Given the description of an element on the screen output the (x, y) to click on. 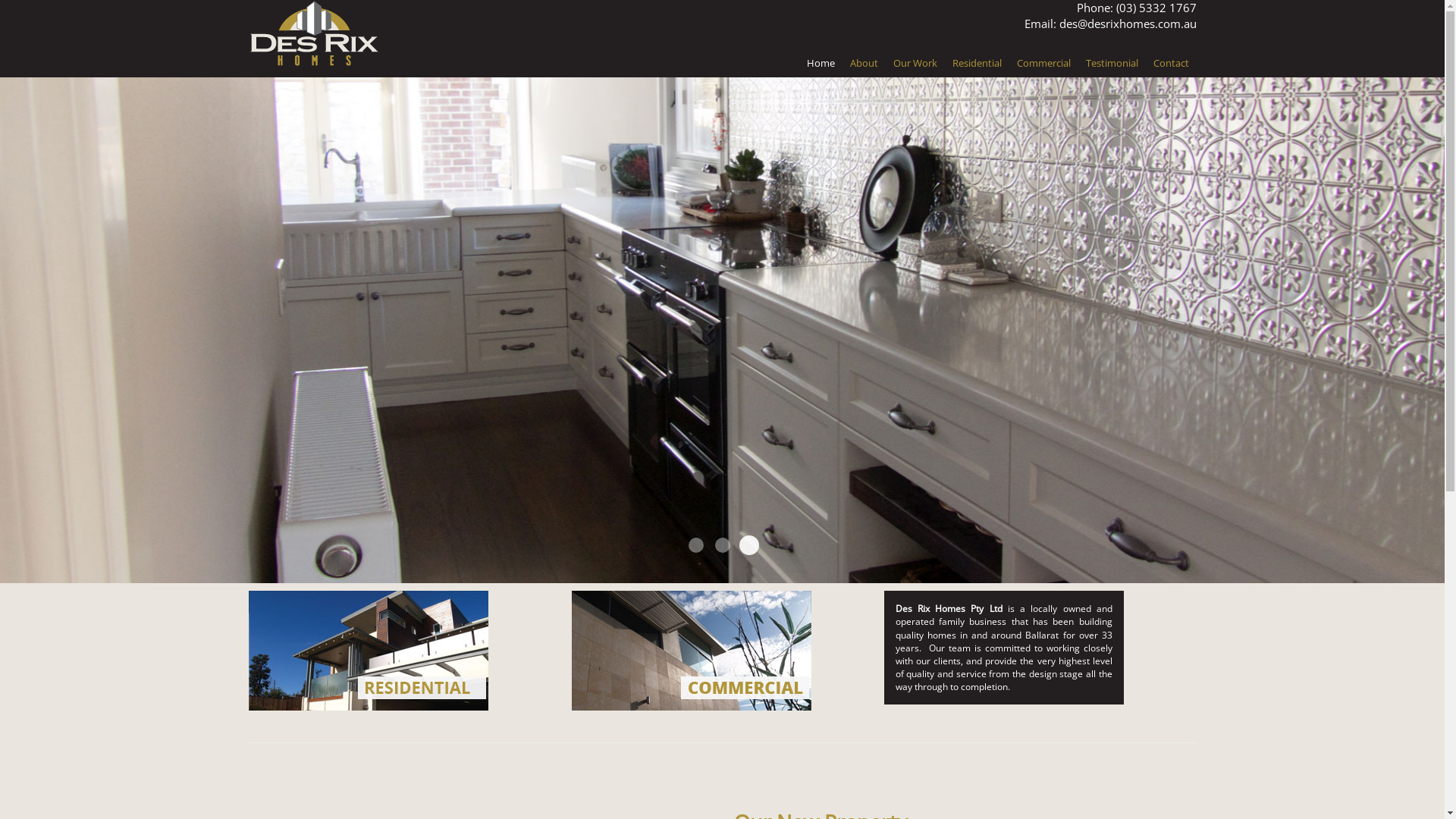
des@desrixhomes.com.au Element type: text (1126, 23)
Testimonial Element type: text (1111, 62)
Banner 01 Element type: text (695, 544)
Home Element type: text (820, 62)
Banner 03 Element type: text (745, 542)
Our Work Element type: text (914, 62)
Banner 02 Element type: text (721, 544)
Contact Element type: text (1170, 62)
About Element type: text (862, 62)
Residential Element type: text (976, 62)
Commercial Element type: text (1042, 62)
